Given the description of an element on the screen output the (x, y) to click on. 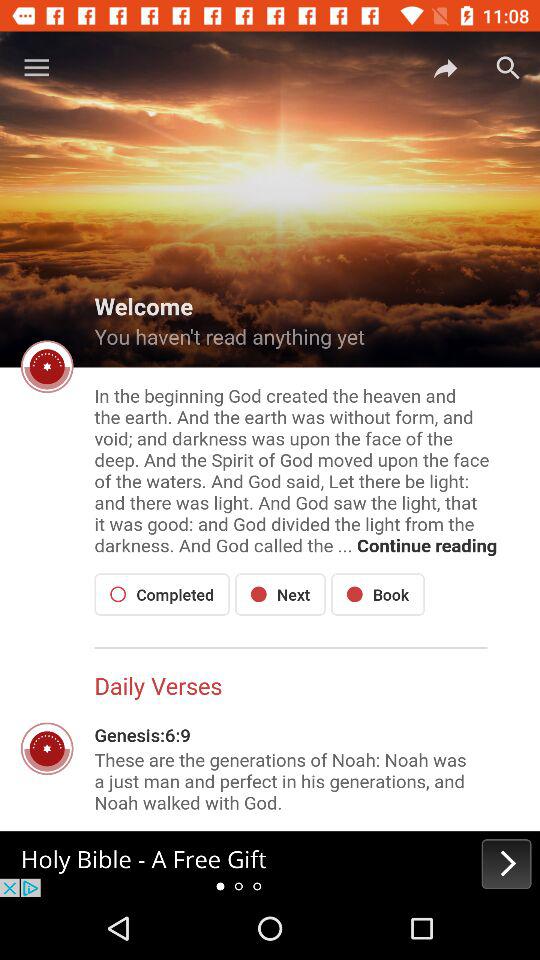
go to advertisement website (270, 864)
